Given the description of an element on the screen output the (x, y) to click on. 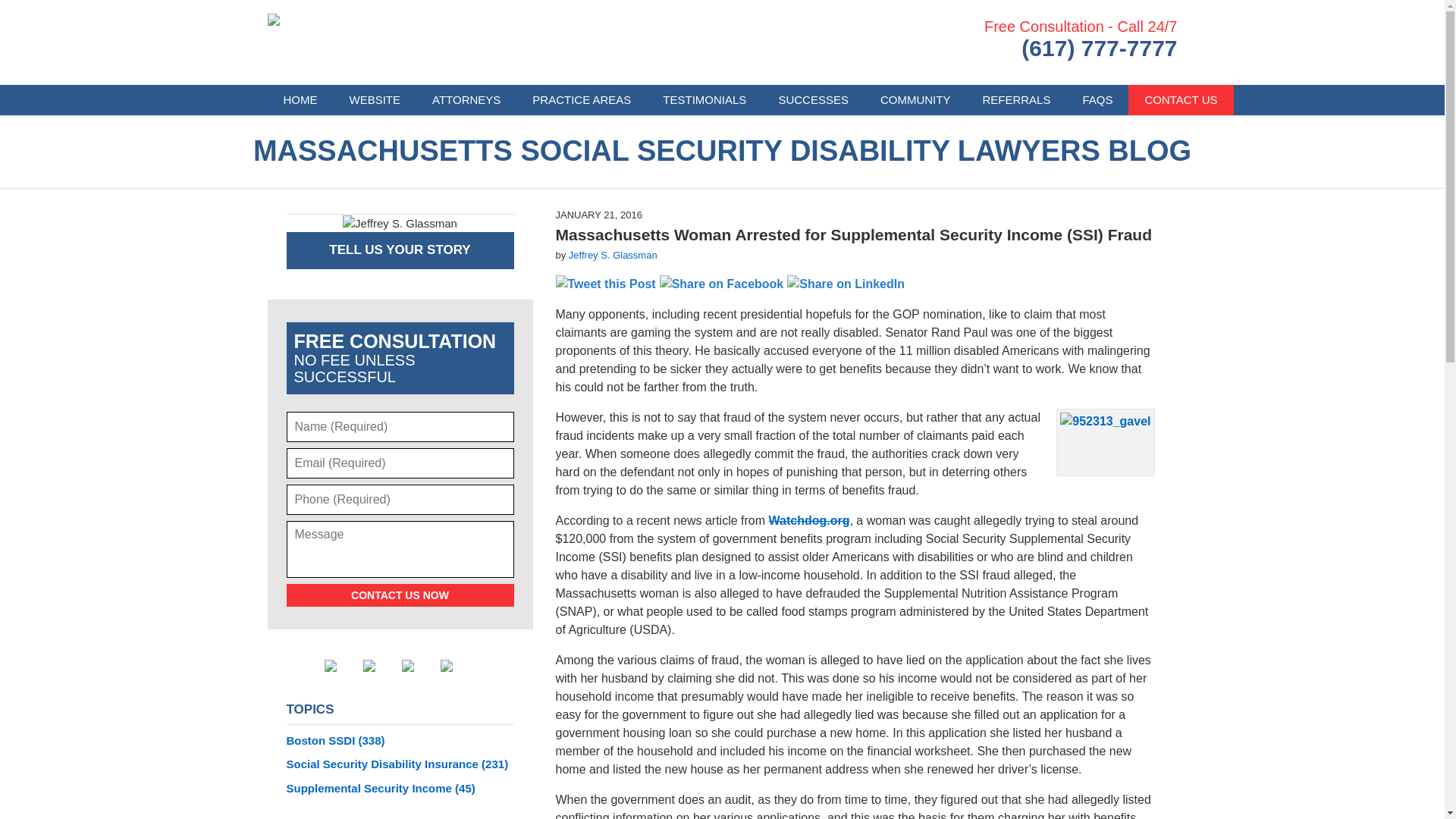
SUCCESSES (812, 100)
FAQS (1096, 100)
TESTIMONIALS (703, 100)
PRACTICE AREAS (581, 100)
CONTACT US (1180, 100)
REFERRALS (1015, 100)
COMMUNITY (915, 100)
Twitter (379, 665)
Justia (418, 665)
Massachusetts Social Security Disability Lawyers Blog (401, 42)
